Given the description of an element on the screen output the (x, y) to click on. 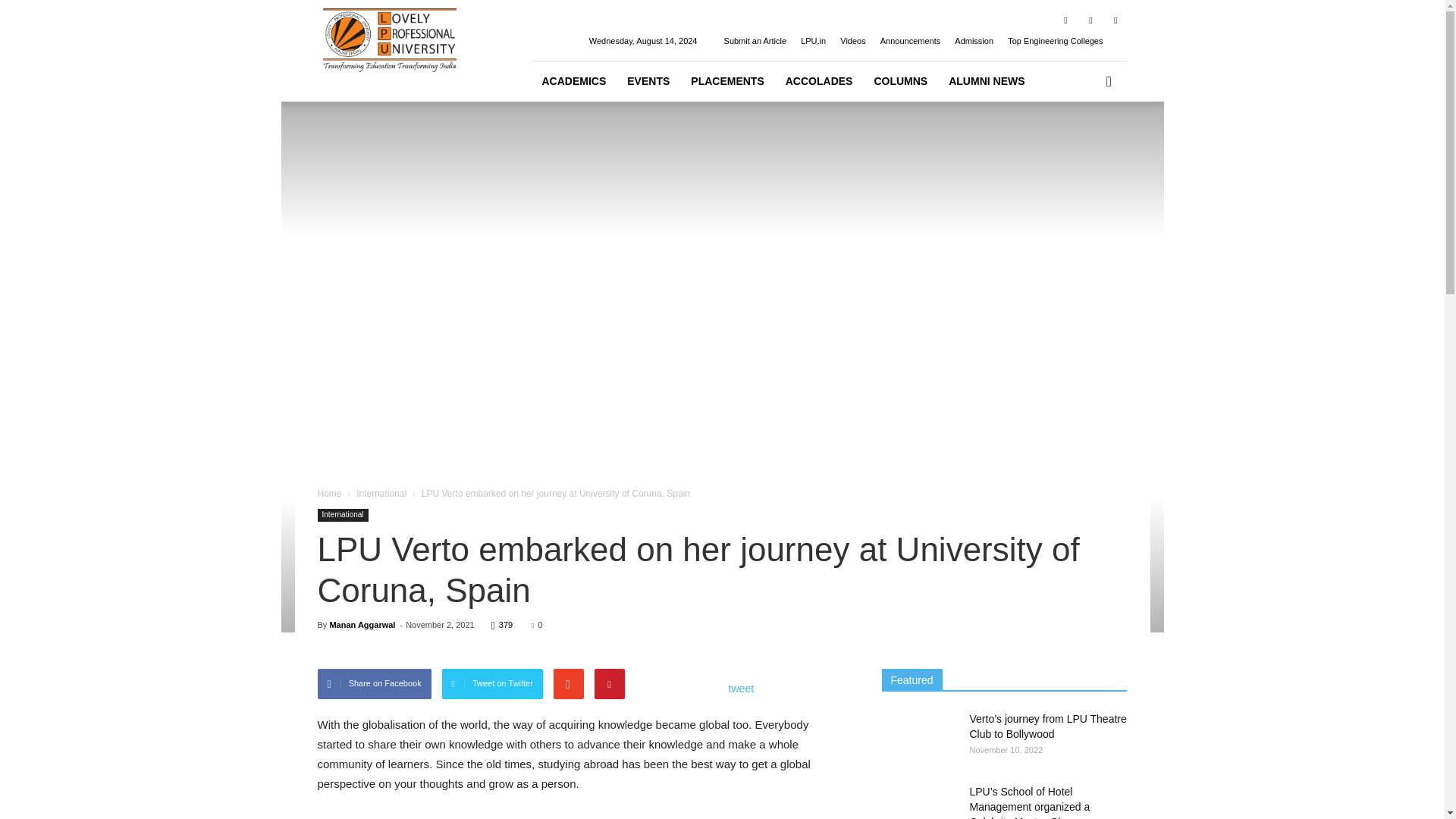
Announcements (910, 40)
LPU.in (812, 40)
Admission (973, 40)
View all posts in International (381, 493)
Facebook (1065, 19)
Twitter (1090, 19)
Submit an Article (755, 40)
Videos (852, 40)
Youtube (1114, 19)
Lovely Professional University (389, 56)
